Given the description of an element on the screen output the (x, y) to click on. 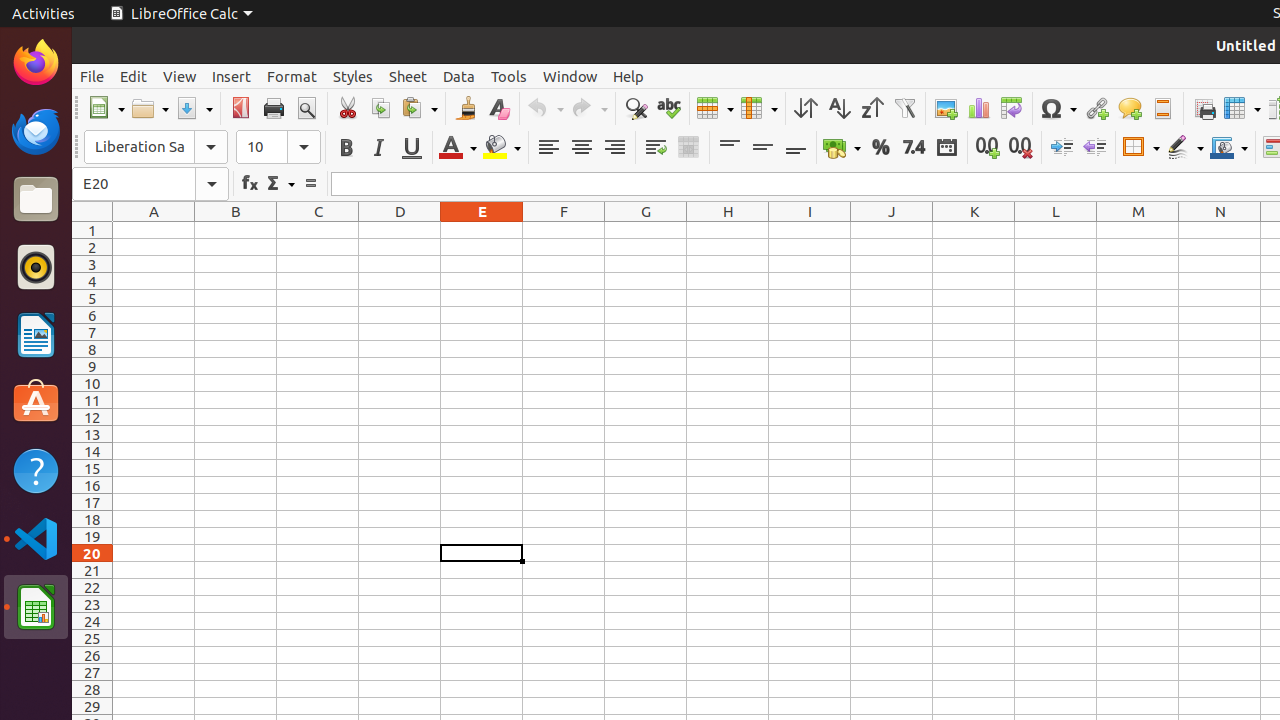
Borders (Shift to overwrite) Element type: push-button (1141, 147)
Window Element type: menu (570, 76)
Percent Element type: push-button (880, 147)
Redo Element type: push-button (589, 108)
Border Style Element type: push-button (1185, 147)
